Given the description of an element on the screen output the (x, y) to click on. 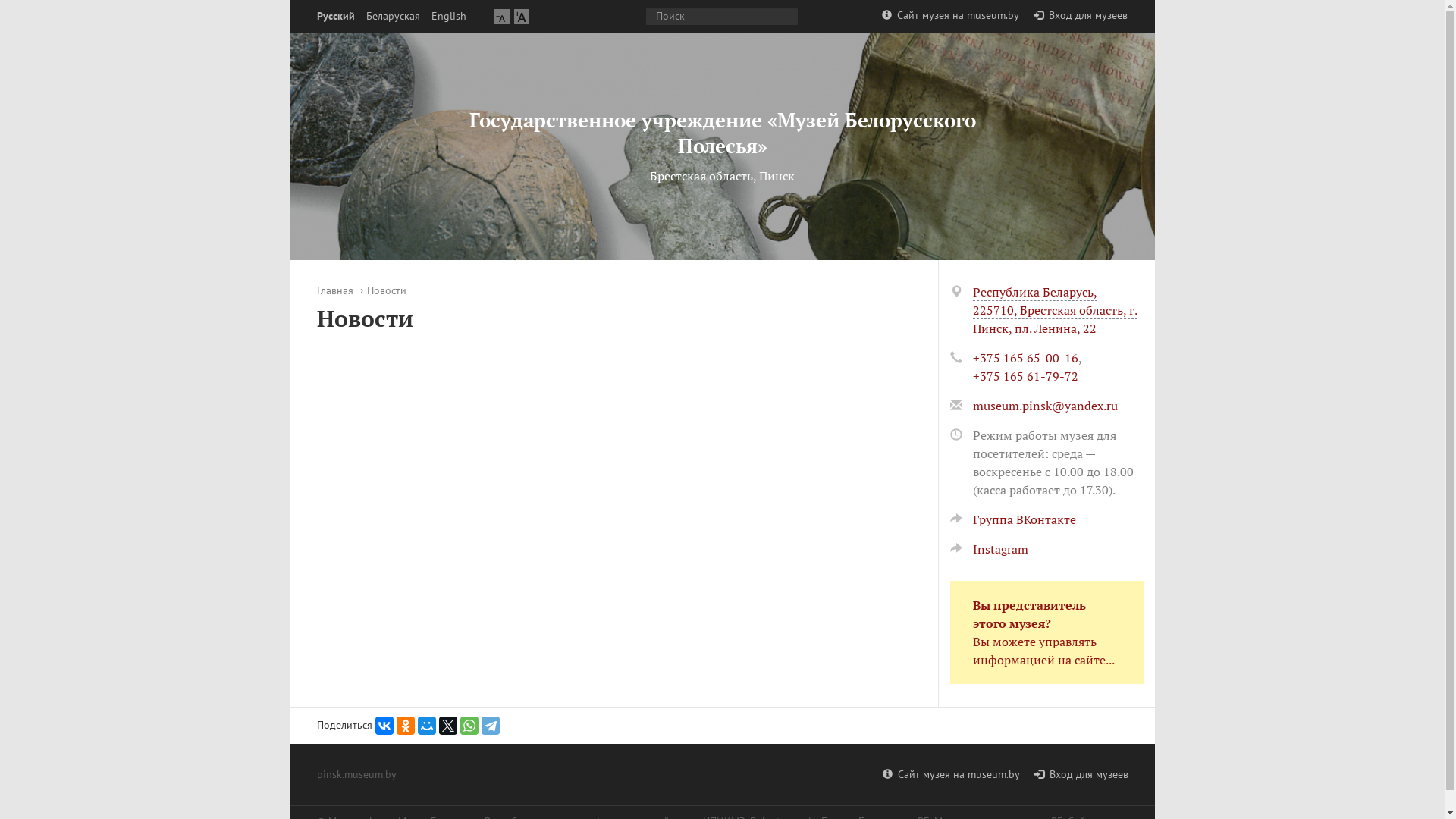
+375 165 65-00-16 Element type: text (1024, 357)
Instagram Element type: text (988, 548)
WhatsApp Element type: hover (468, 725)
A Element type: text (521, 16)
English Element type: text (447, 16)
Twitter Element type: hover (447, 725)
A Element type: text (501, 16)
museum.pinsk@yandex.ru Element type: text (1044, 405)
+375 165 61-79-72 Element type: text (1024, 376)
Telegram Element type: hover (489, 725)
